Given the description of an element on the screen output the (x, y) to click on. 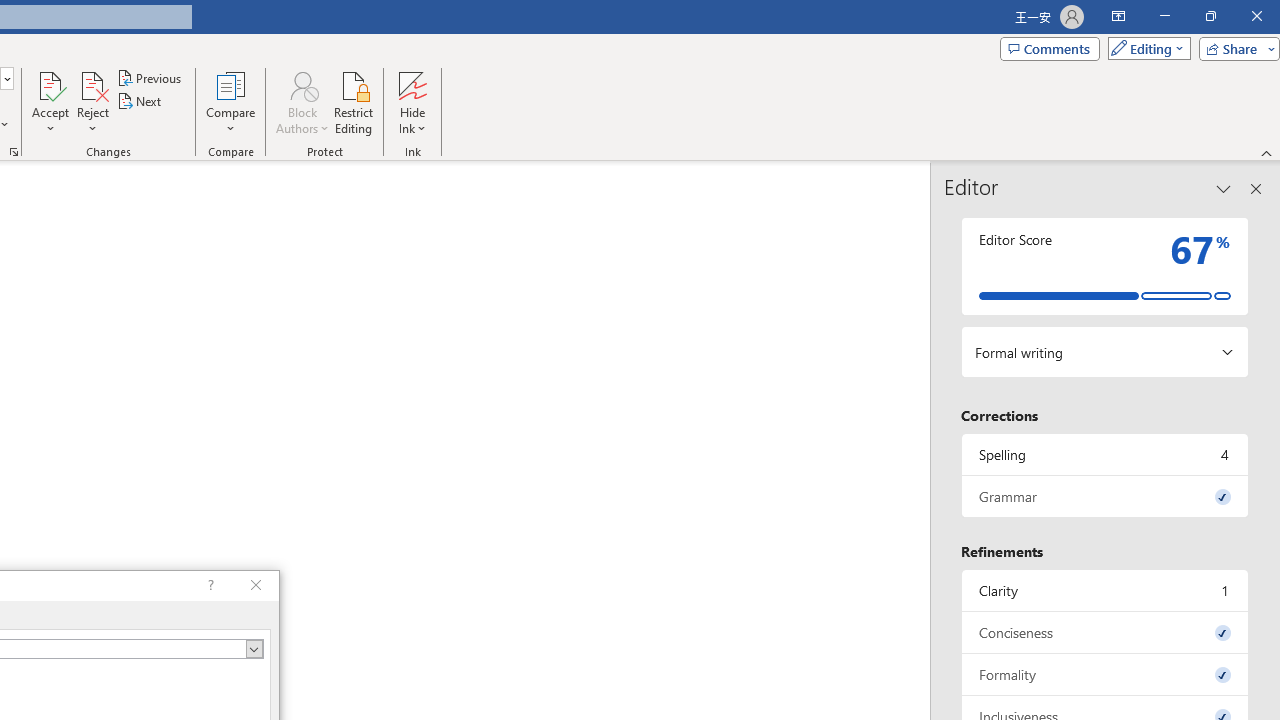
Previous (150, 78)
Block Authors (302, 84)
